Given the description of an element on the screen output the (x, y) to click on. 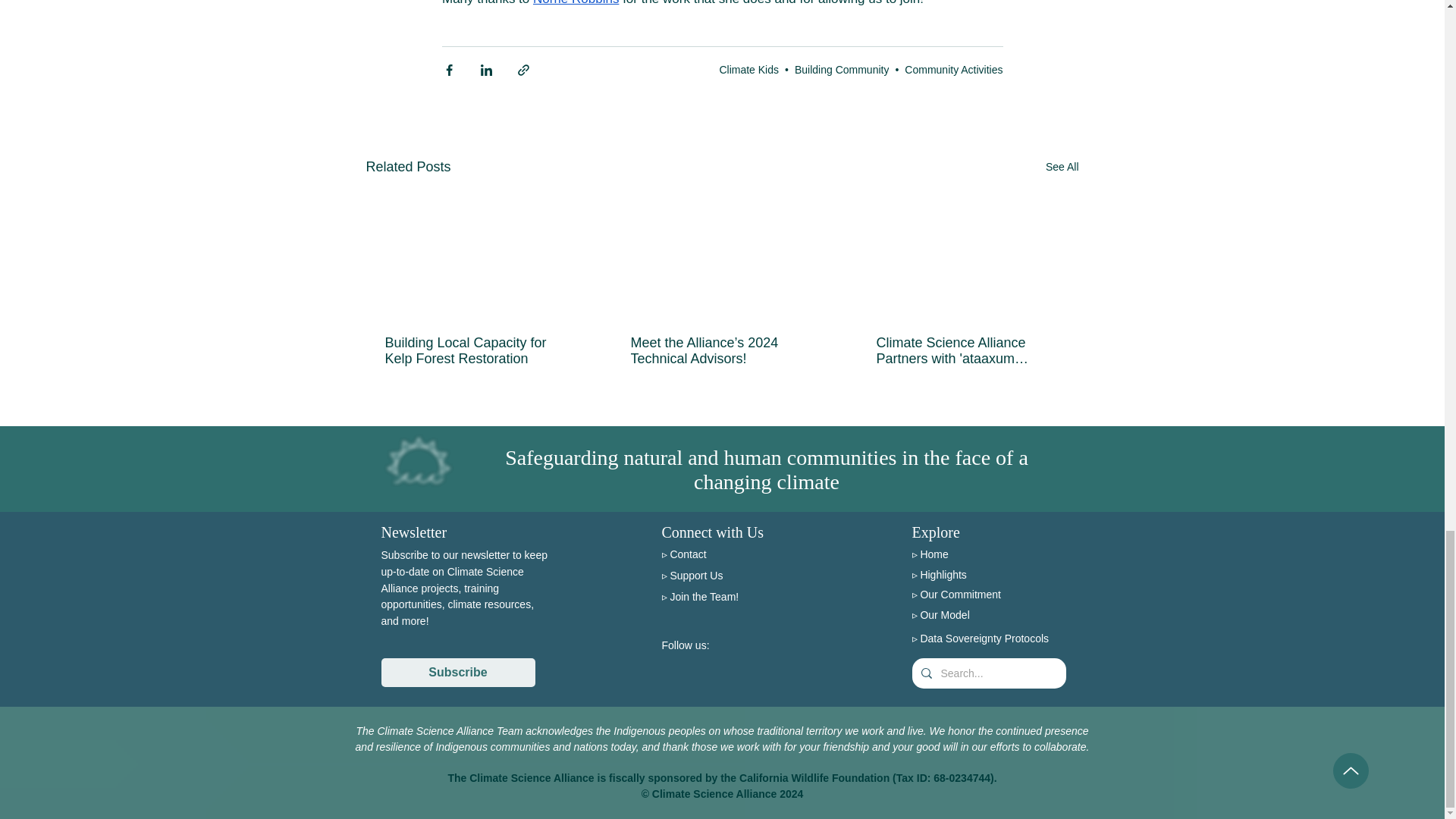
Climate Science Alliance Partners with 'ataaxum Pomkwaan (967, 350)
Community Activities (953, 69)
Norrie Robbins (575, 2)
Building Community (841, 69)
Subscribe (457, 672)
Climate Kids (748, 69)
Building Local Capacity for Kelp Forest Restoration (476, 350)
See All (1061, 167)
